Given the description of an element on the screen output the (x, y) to click on. 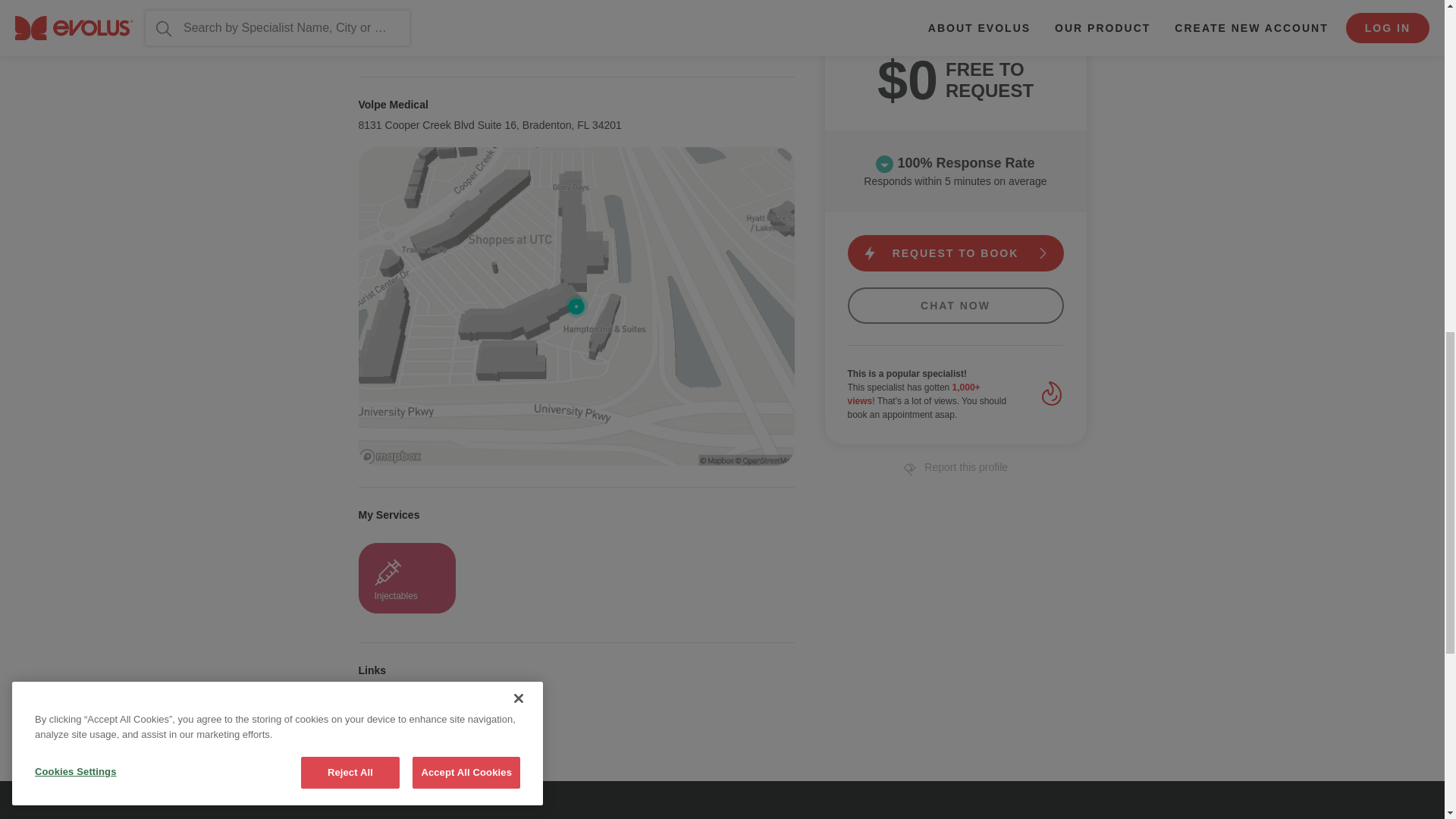
Instagram (409, 714)
